Given the description of an element on the screen output the (x, y) to click on. 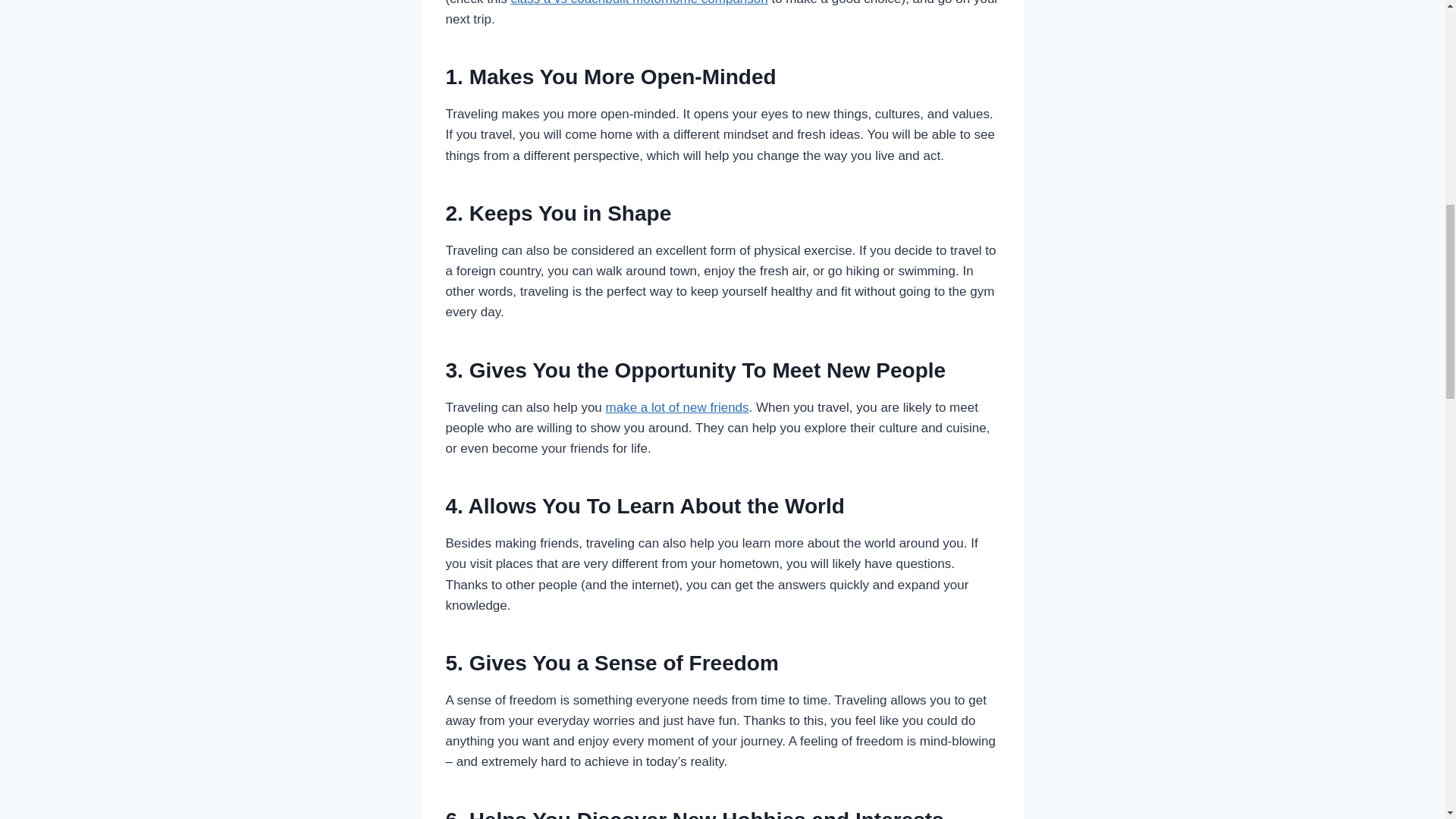
class a vs coachbuilt motorhome comparison (639, 2)
make a lot of new friends (677, 407)
class a vs coachbuilt motorhome comparison (639, 2)
make a lot of new friends (677, 407)
